Given the description of an element on the screen output the (x, y) to click on. 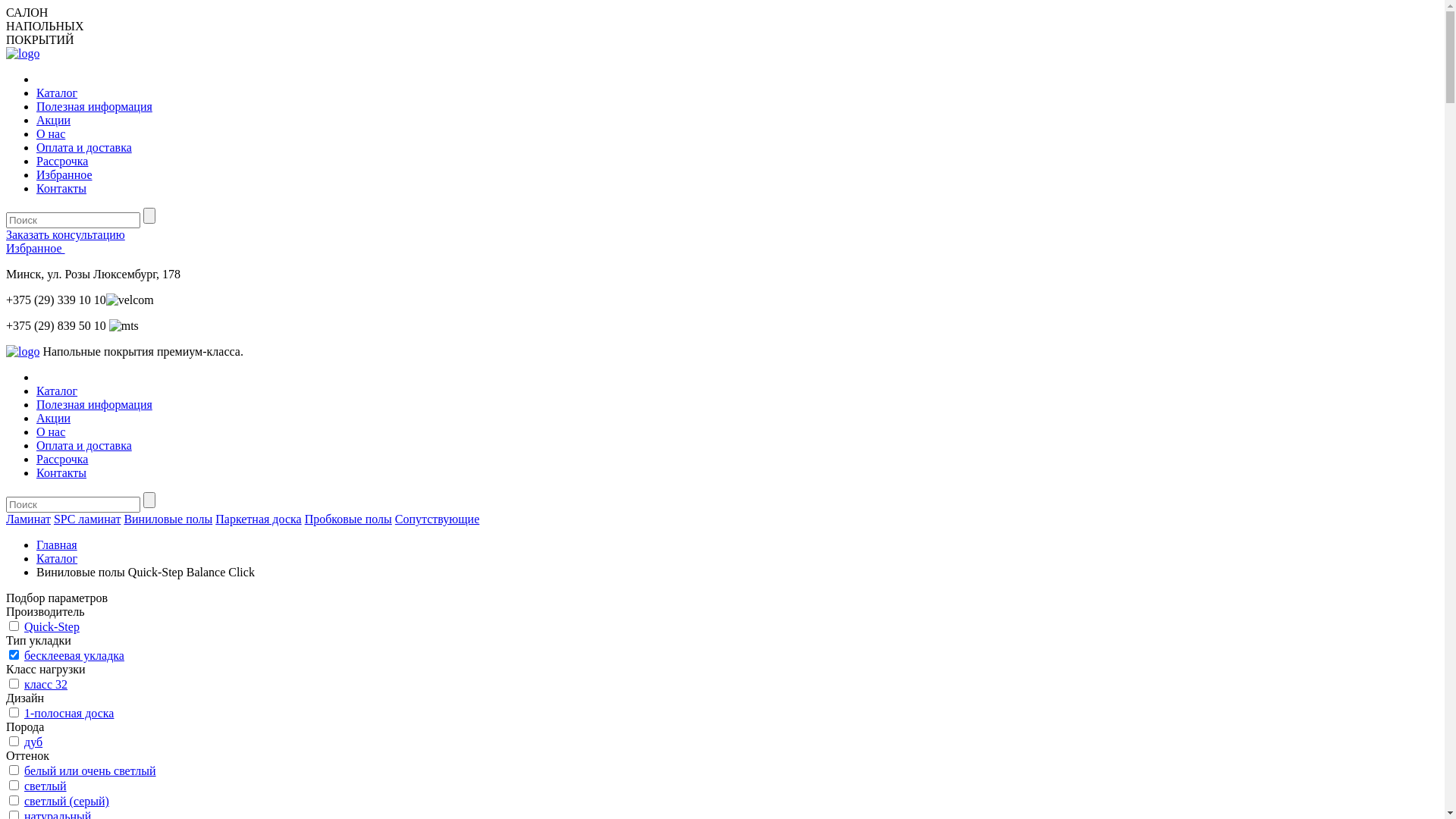
Y Element type: text (13, 654)
Y Element type: text (13, 800)
Y Element type: text (13, 625)
Y Element type: text (13, 712)
Y Element type: text (13, 683)
Y Element type: text (13, 770)
Y Element type: text (13, 785)
Y Element type: text (13, 741)
Quick-Step Element type: text (51, 626)
